Given the description of an element on the screen output the (x, y) to click on. 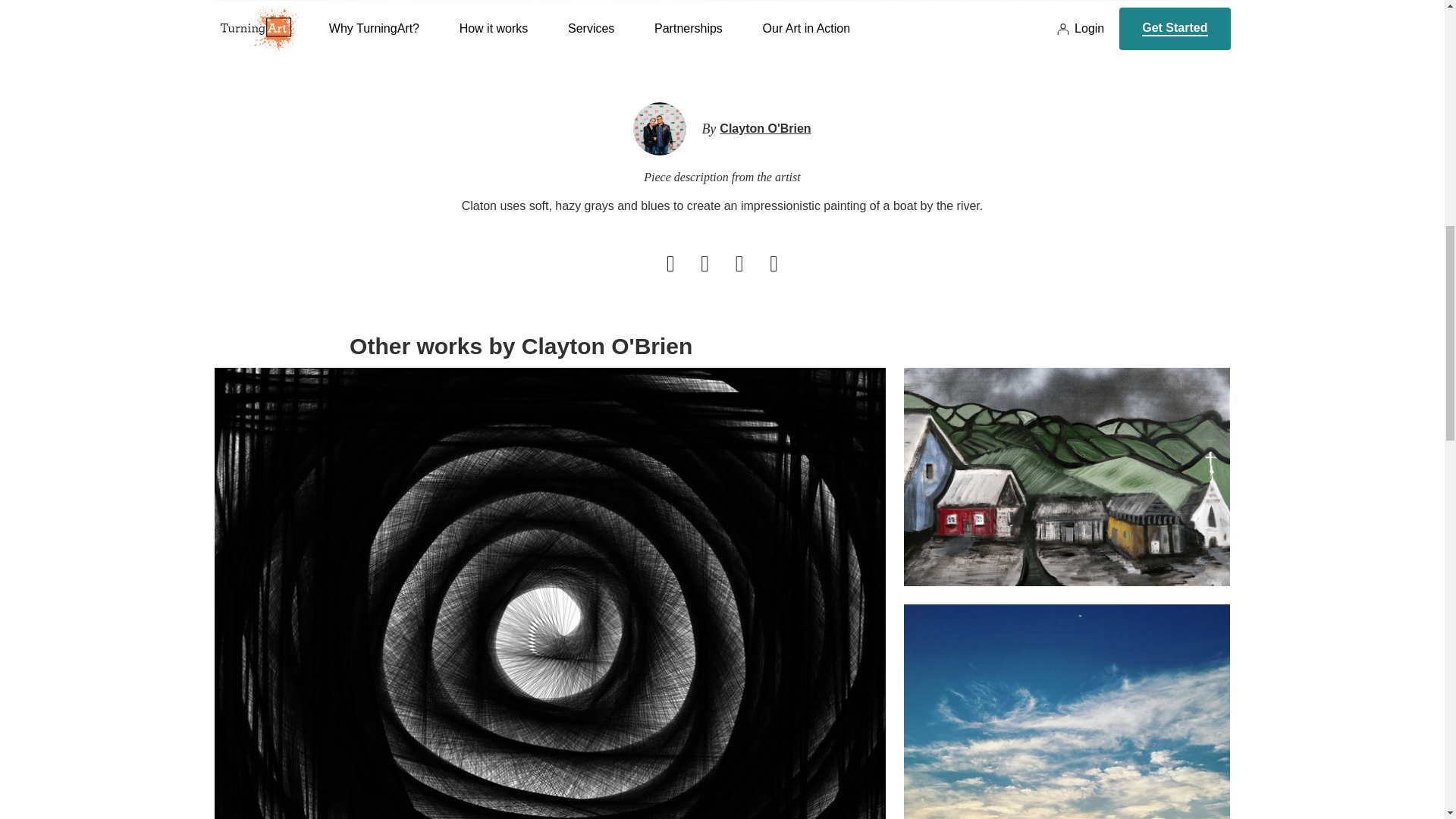
Clayton O'Brien (764, 128)
